Given the description of an element on the screen output the (x, y) to click on. 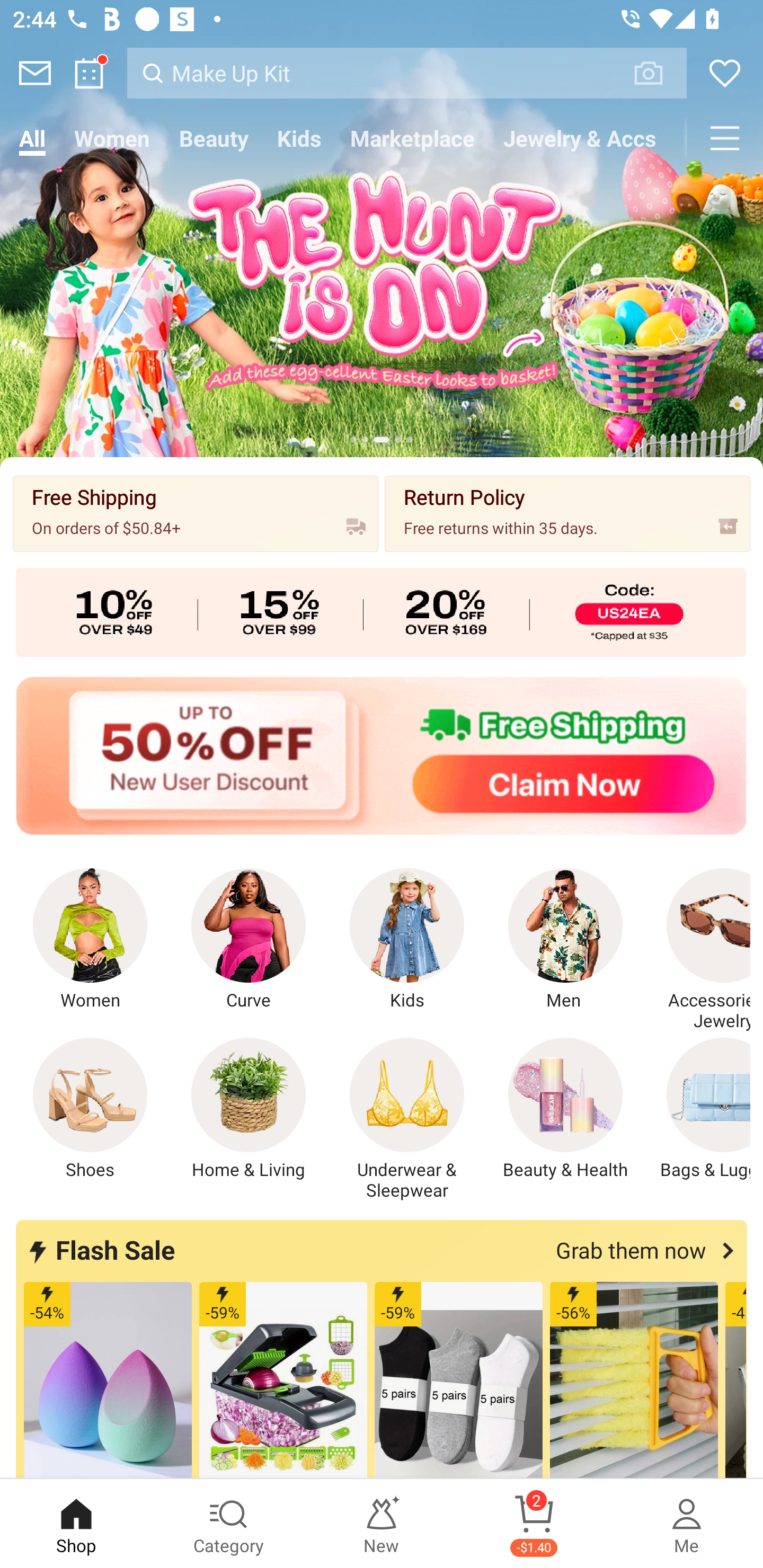
Wishlist (724, 72)
VISUAL SEARCH (657, 72)
All (31, 137)
Women (111, 137)
Beauty (213, 137)
Kids (298, 137)
Marketplace (412, 137)
Jewelry & Accs (580, 137)
Free Shipping On orders of $50.84+ (195, 513)
Return Policy Free returns within 35 days. (567, 513)
Women (89, 939)
Curve (248, 939)
Kids (406, 939)
Men  (565, 939)
Accessories & Jewelry (698, 949)
Shoes (89, 1109)
Home & Living (248, 1109)
Underwear & Sleepwear (406, 1119)
Beauty & Health (565, 1109)
Bags & Luggage (698, 1109)
Category (228, 1523)
New (381, 1523)
Cart 2 -$1.40 (533, 1523)
Me (686, 1523)
